Given the description of an element on the screen output the (x, y) to click on. 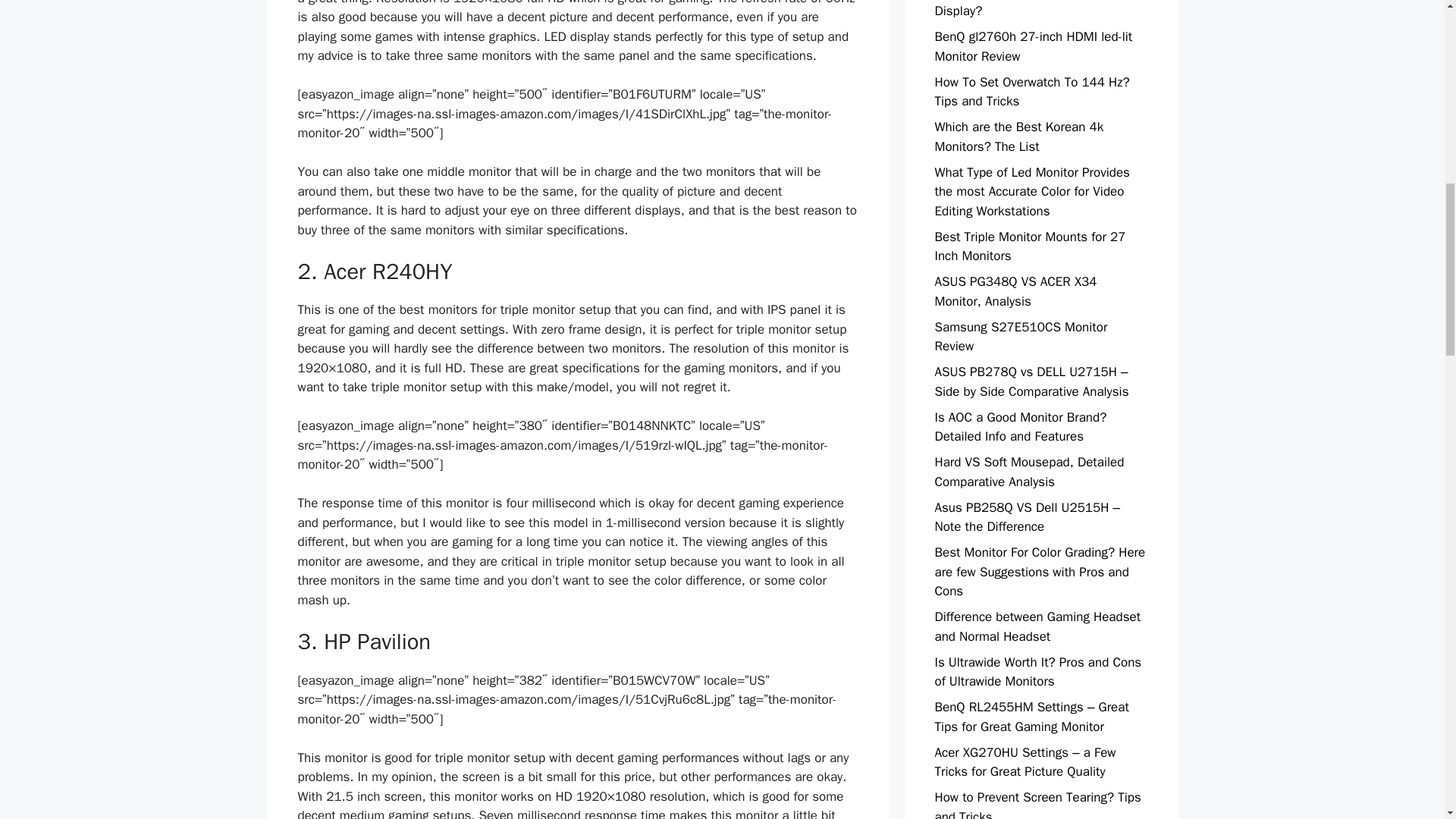
Scroll back to top (1406, 720)
Which are the Best Korean 4k Monitors? The List (1018, 136)
Hard VS Soft Mousepad, Detailed Comparative Analysis (1029, 471)
How To Set Overwatch To 144 Hz? Tips and Tricks (1031, 91)
Samsung S27E510CS Monitor Review (1020, 335)
Difference between Gaming Headset and Normal Headset (1037, 626)
Best Triple Monitor Mounts for 27 Inch Monitors (1029, 246)
ASUS PG348Q VS ACER X34 Monitor, Analysis (1015, 291)
